Given the description of an element on the screen output the (x, y) to click on. 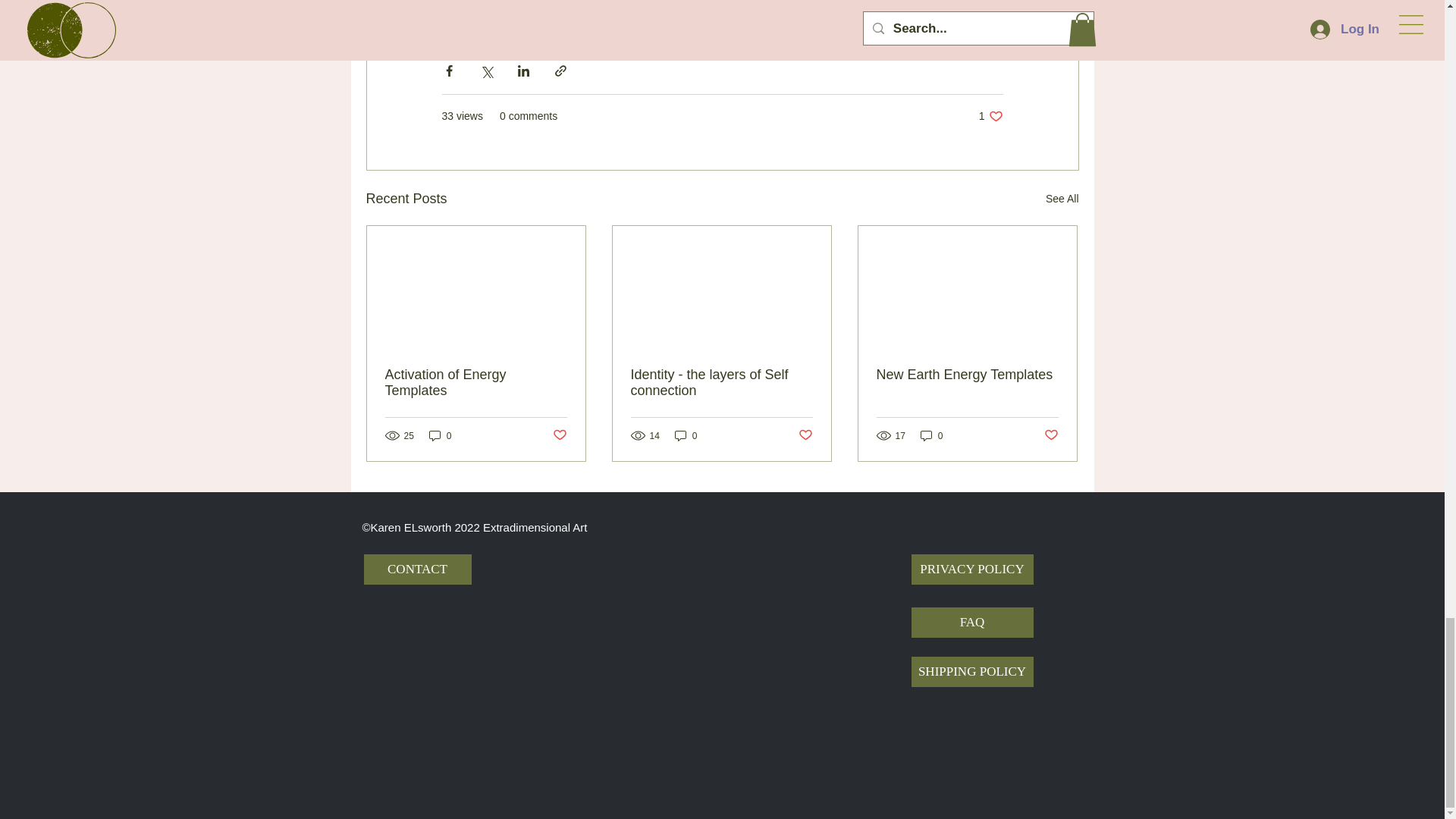
SHIPPING POLICY (972, 671)
New Earth Energy Templates (967, 374)
CONTACT (417, 569)
Identity - the layers of Self connection (721, 382)
PRIVACY POLICY (972, 569)
Activation of Energy Templates (476, 382)
0 (685, 435)
Post not marked as liked (990, 115)
FAQ (1050, 435)
